Given the description of an element on the screen output the (x, y) to click on. 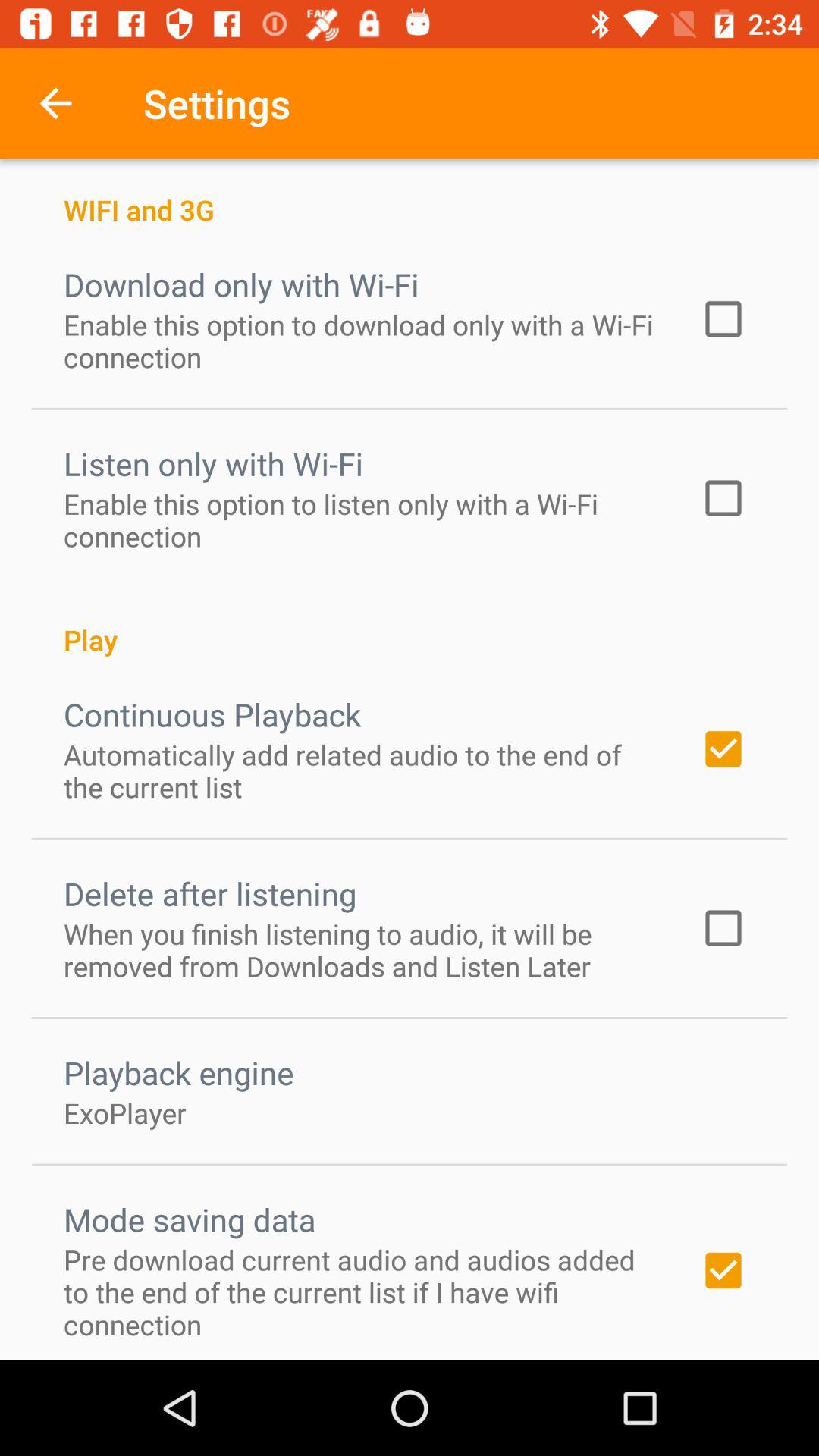
turn on the item below exoplayer item (189, 1219)
